Given the description of an element on the screen output the (x, y) to click on. 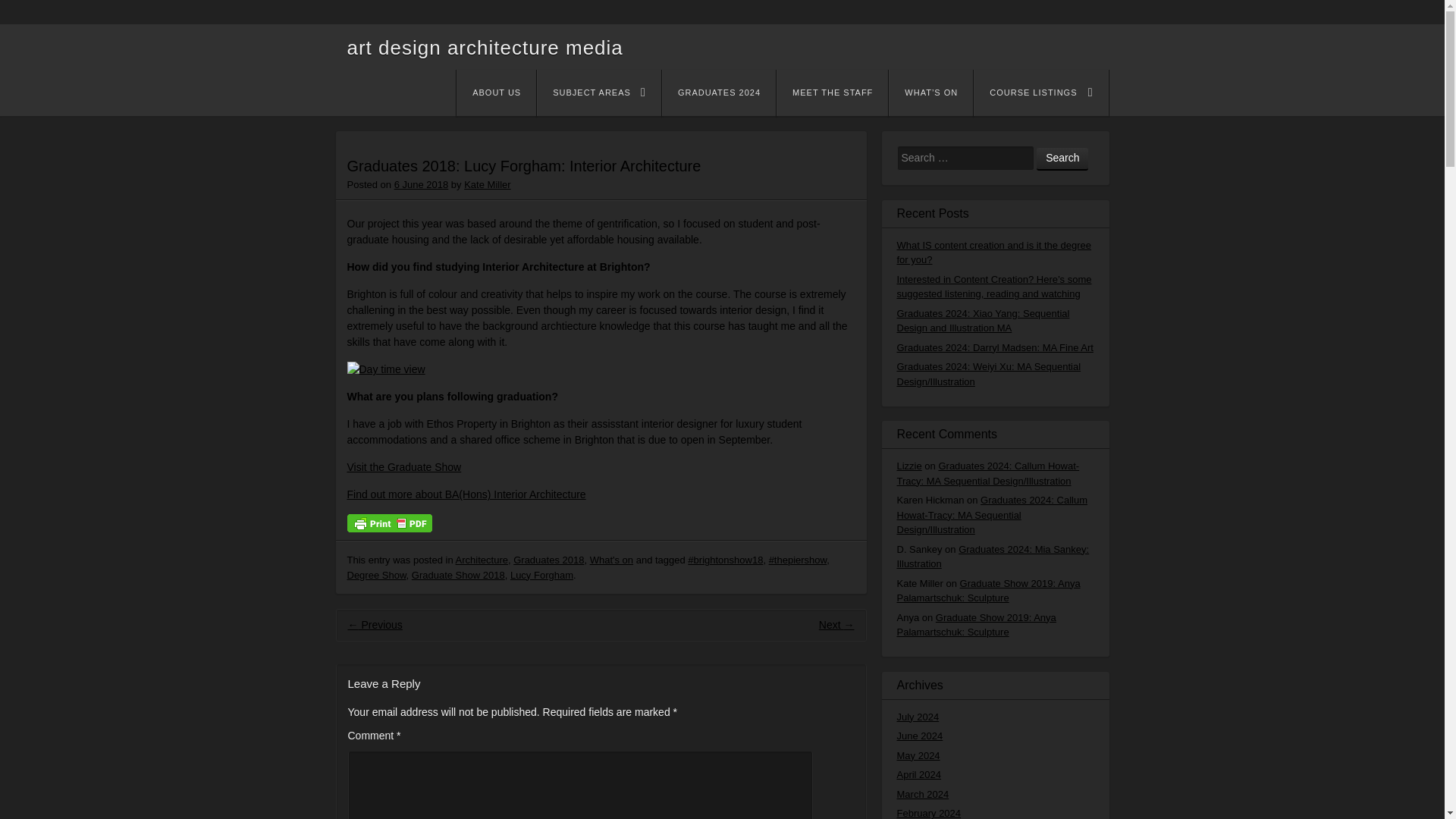
Skip to content (506, 93)
Menu (493, 96)
art design architecture media (485, 47)
COURSE LISTINGS (1041, 92)
ABOUT US (496, 92)
art design architecture media (485, 47)
View all posts by Kate Miller (487, 184)
MEET THE STAFF (832, 92)
SUBJECT AREAS (599, 92)
8:01 pm (421, 184)
